Given the description of an element on the screen output the (x, y) to click on. 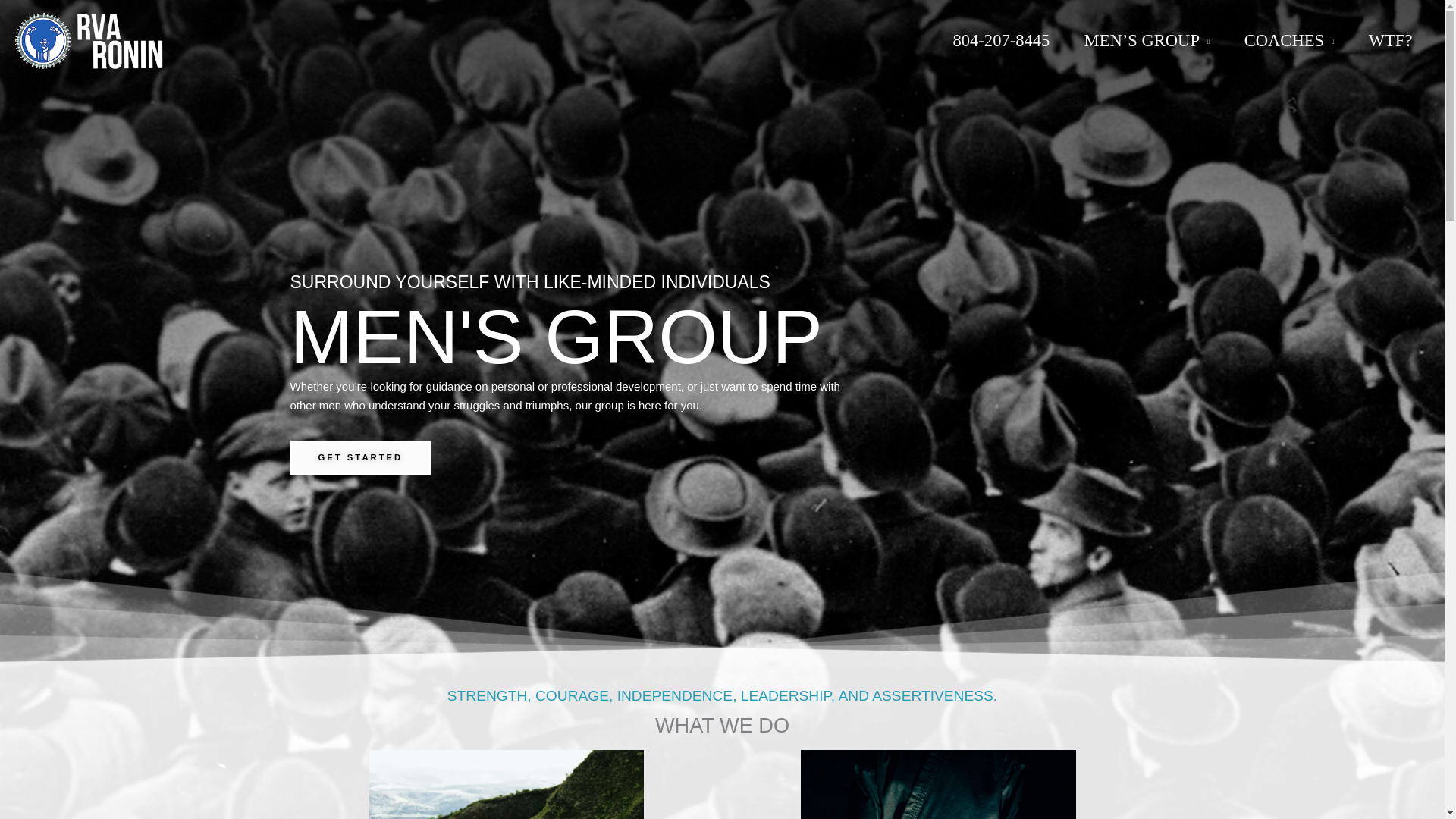
group of men (505, 784)
804-207-8445 (1001, 40)
WTF? (1390, 40)
COACHES (1289, 40)
